Given the description of an element on the screen output the (x, y) to click on. 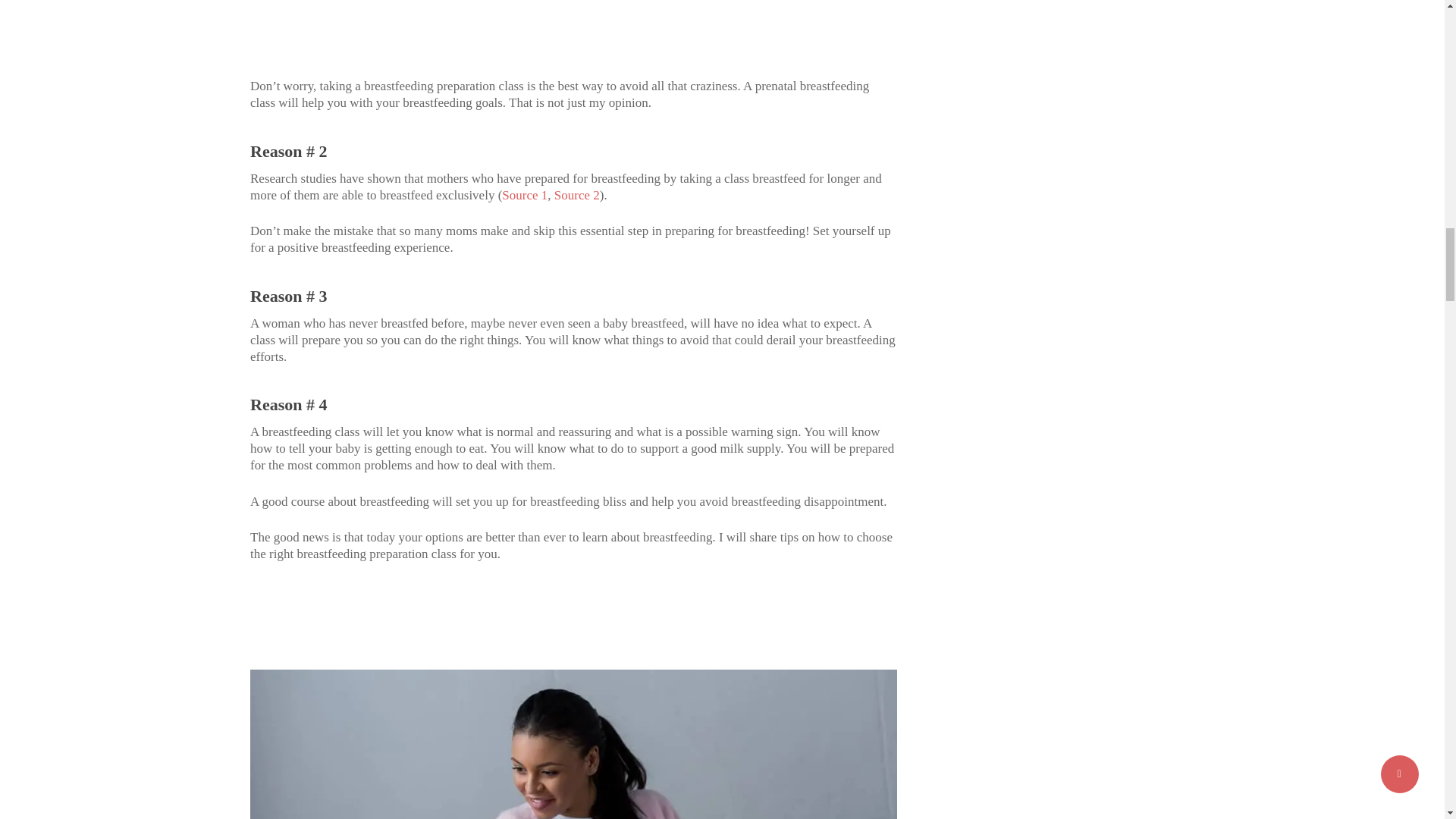
Source 2 (576, 195)
Source 1 (524, 195)
